Given the description of an element on the screen output the (x, y) to click on. 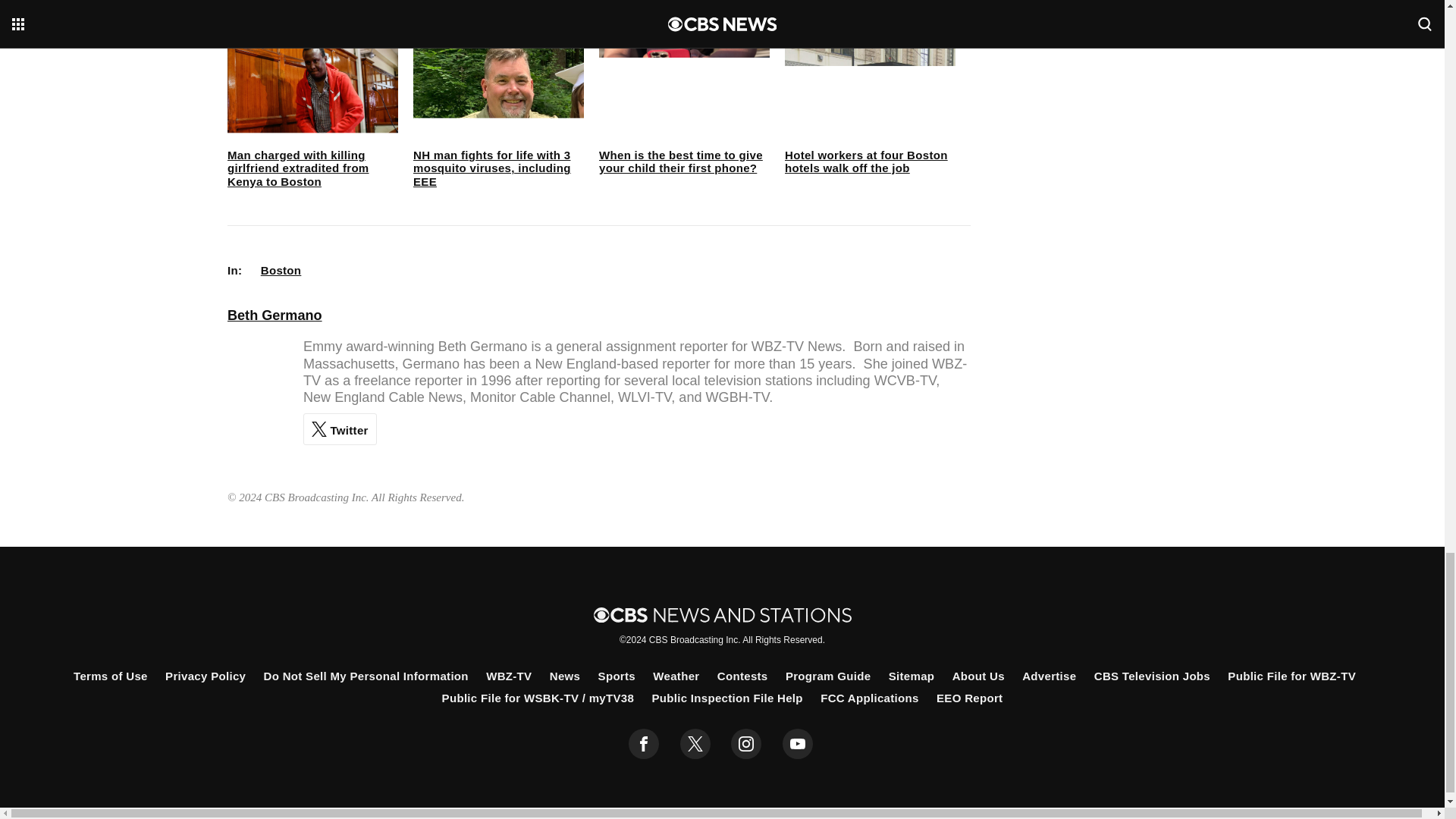
twitter (694, 743)
youtube (797, 743)
facebook (643, 743)
instagram (745, 743)
